Given the description of an element on the screen output the (x, y) to click on. 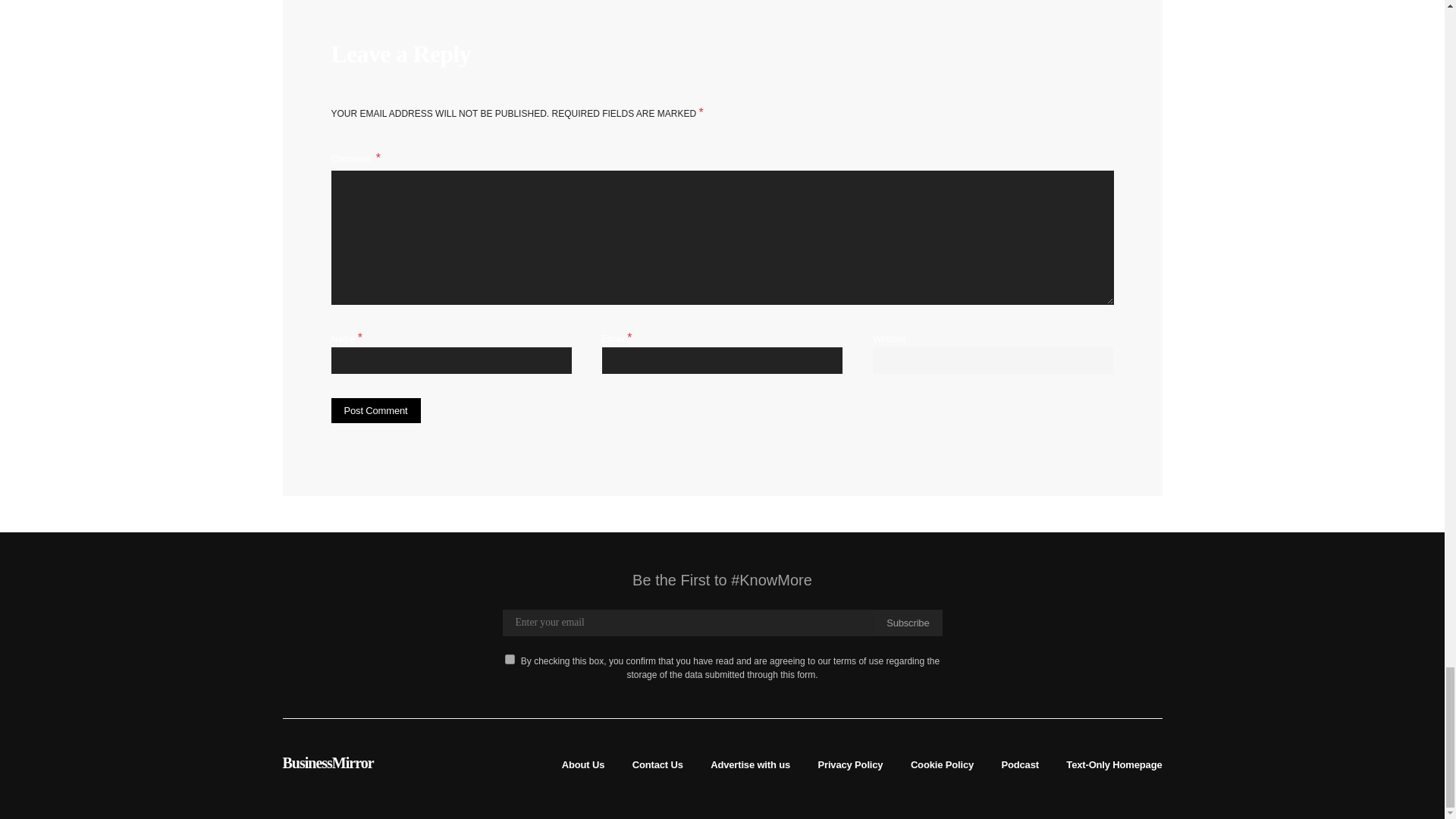
Post Comment (375, 411)
on (510, 659)
